Given the description of an element on the screen output the (x, y) to click on. 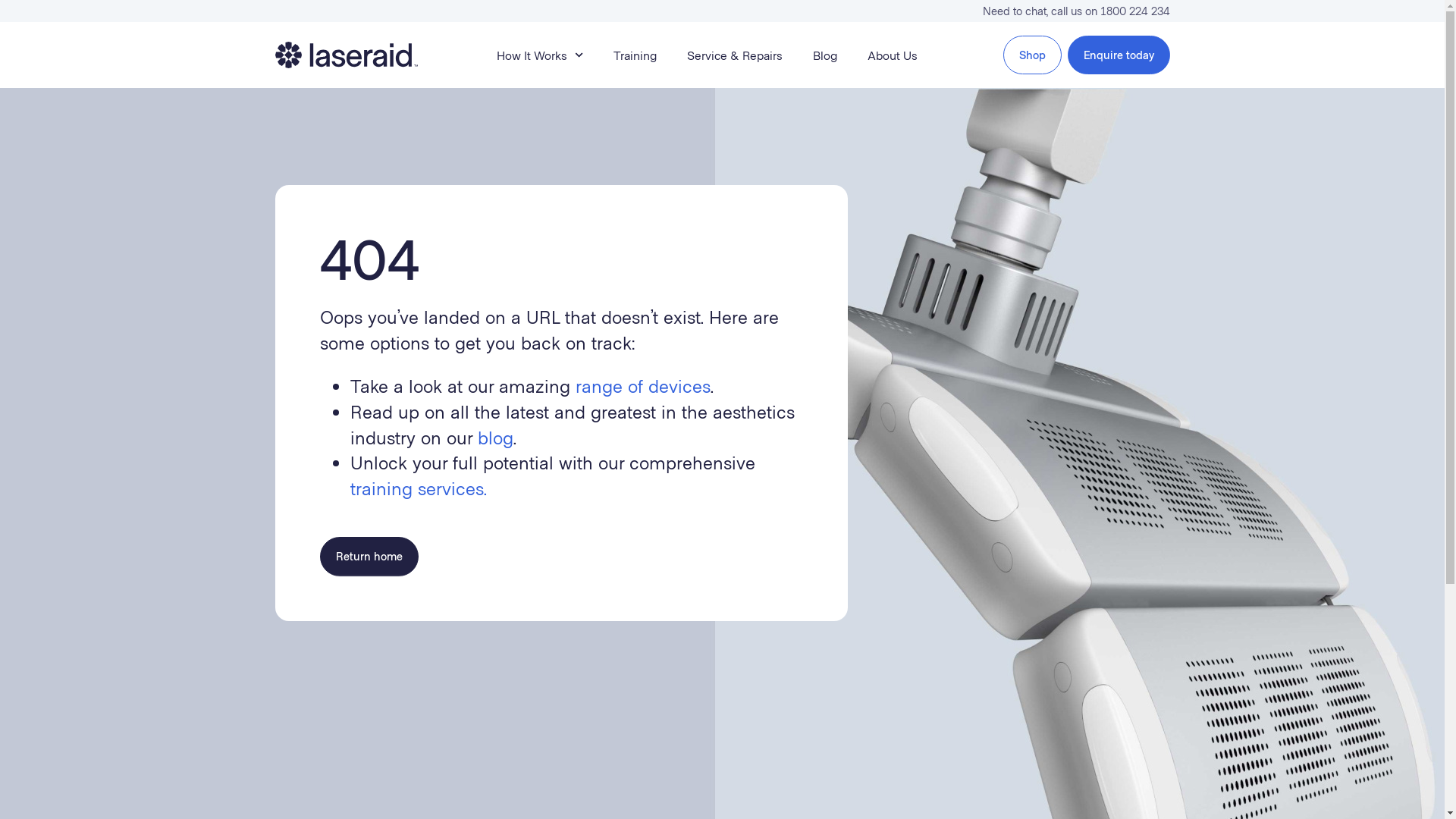
blog Element type: text (495, 437)
Blog Element type: text (824, 55)
range of devices Element type: text (641, 385)
How It Works Element type: text (539, 55)
training services. Element type: text (418, 487)
Shop Element type: text (1031, 54)
1800 224 234 Element type: text (1134, 10)
Enquire today Element type: text (1118, 54)
Return home Element type: text (369, 555)
Training Element type: text (634, 55)
About Us Element type: text (892, 55)
Service & Repairs Element type: text (734, 55)
